Given the description of an element on the screen output the (x, y) to click on. 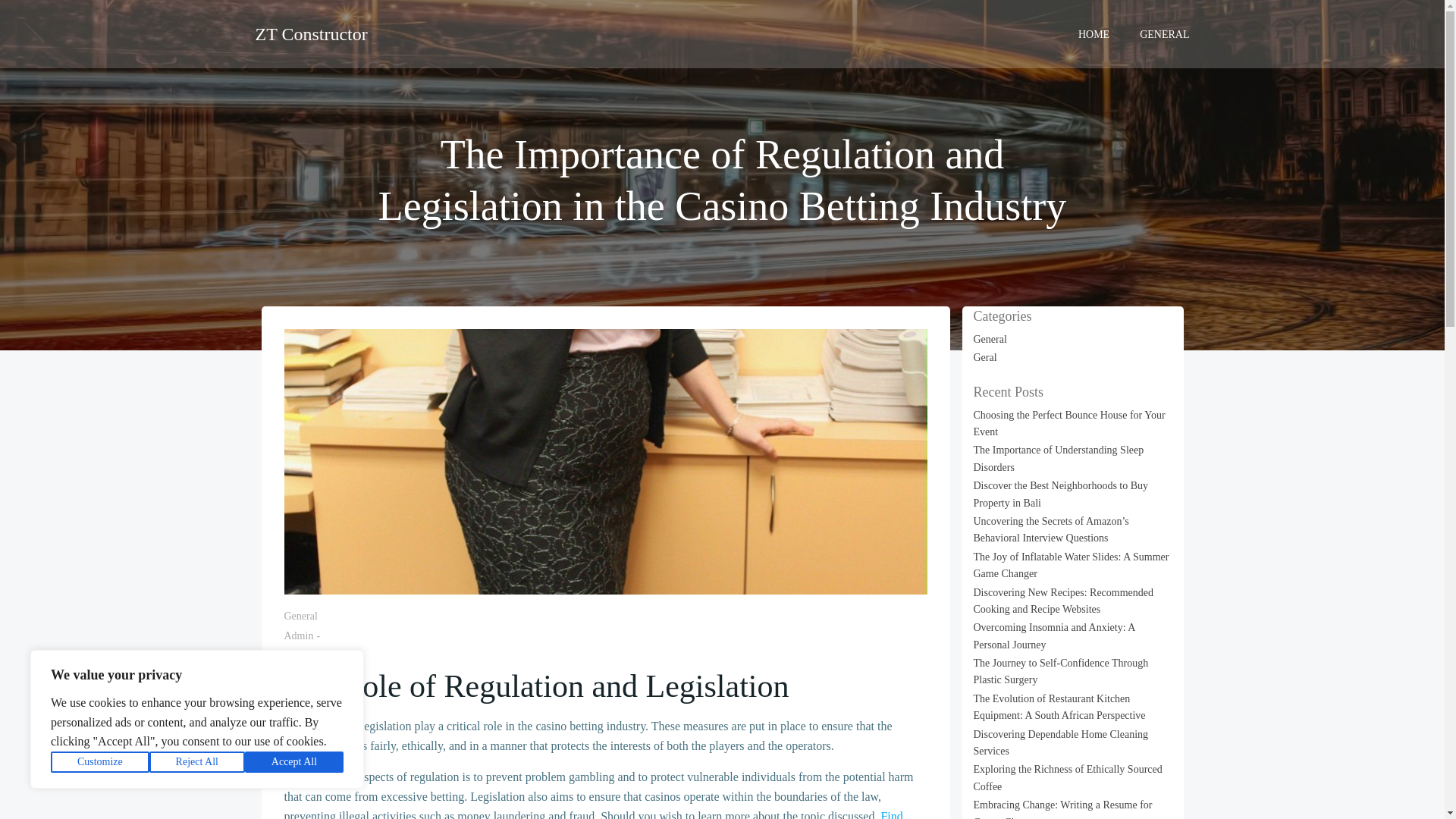
Accept All (293, 762)
Geral (985, 357)
General (990, 338)
Admin (298, 635)
HOME (1093, 33)
GENERAL (1164, 33)
Reject All (196, 762)
The Importance of Understanding Sleep Disorders (1059, 458)
Choosing the Perfect Bounce House for Your Event (1070, 423)
Customize (99, 762)
